Given the description of an element on the screen output the (x, y) to click on. 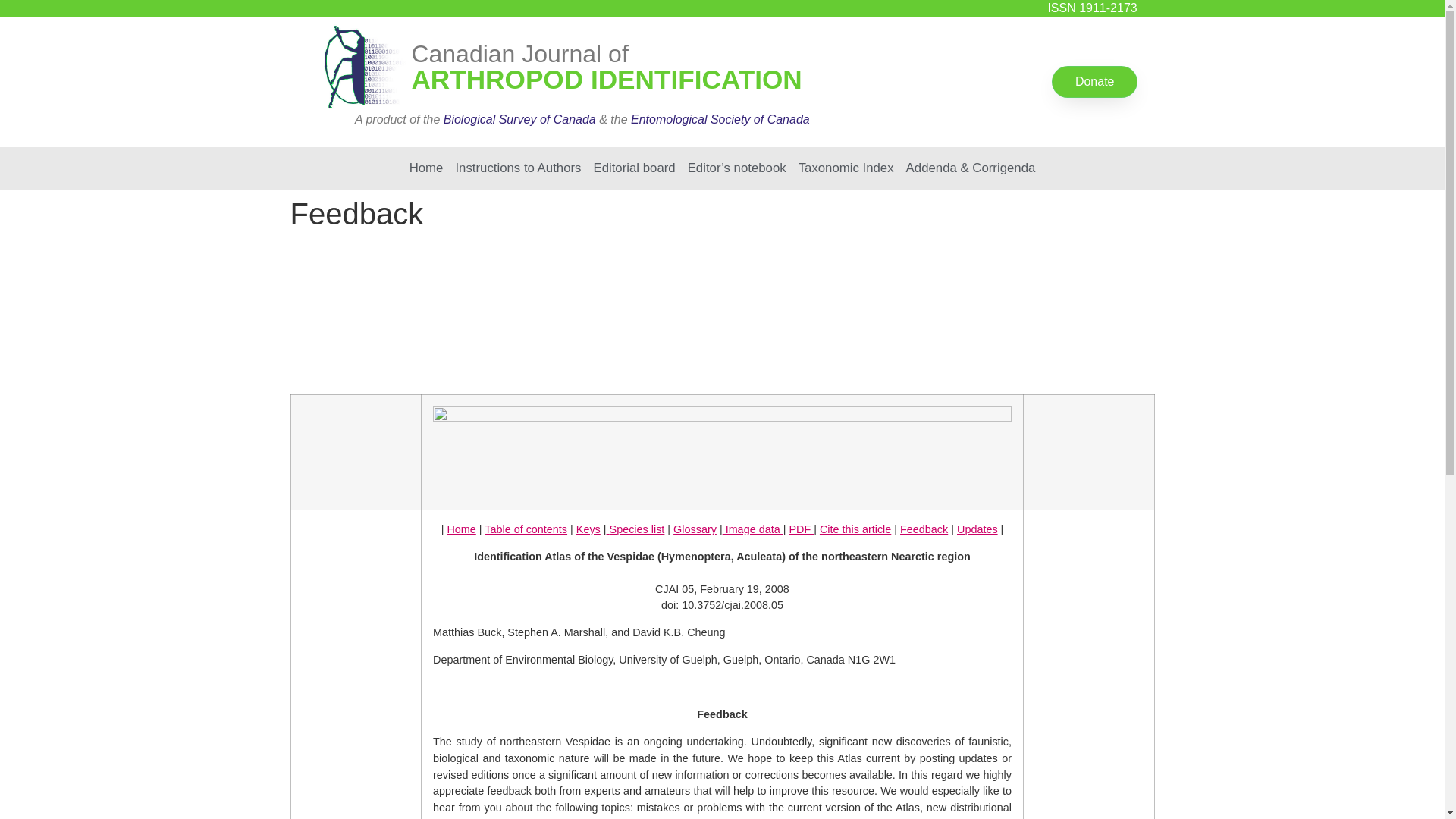
Editorial board (633, 167)
Home (426, 167)
Feedback (923, 529)
Image data (752, 529)
Home (461, 529)
Glossary (694, 529)
Cite this article (855, 529)
Table of contents (525, 529)
Canadian Journal of (518, 53)
PDF (801, 529)
